Given the description of an element on the screen output the (x, y) to click on. 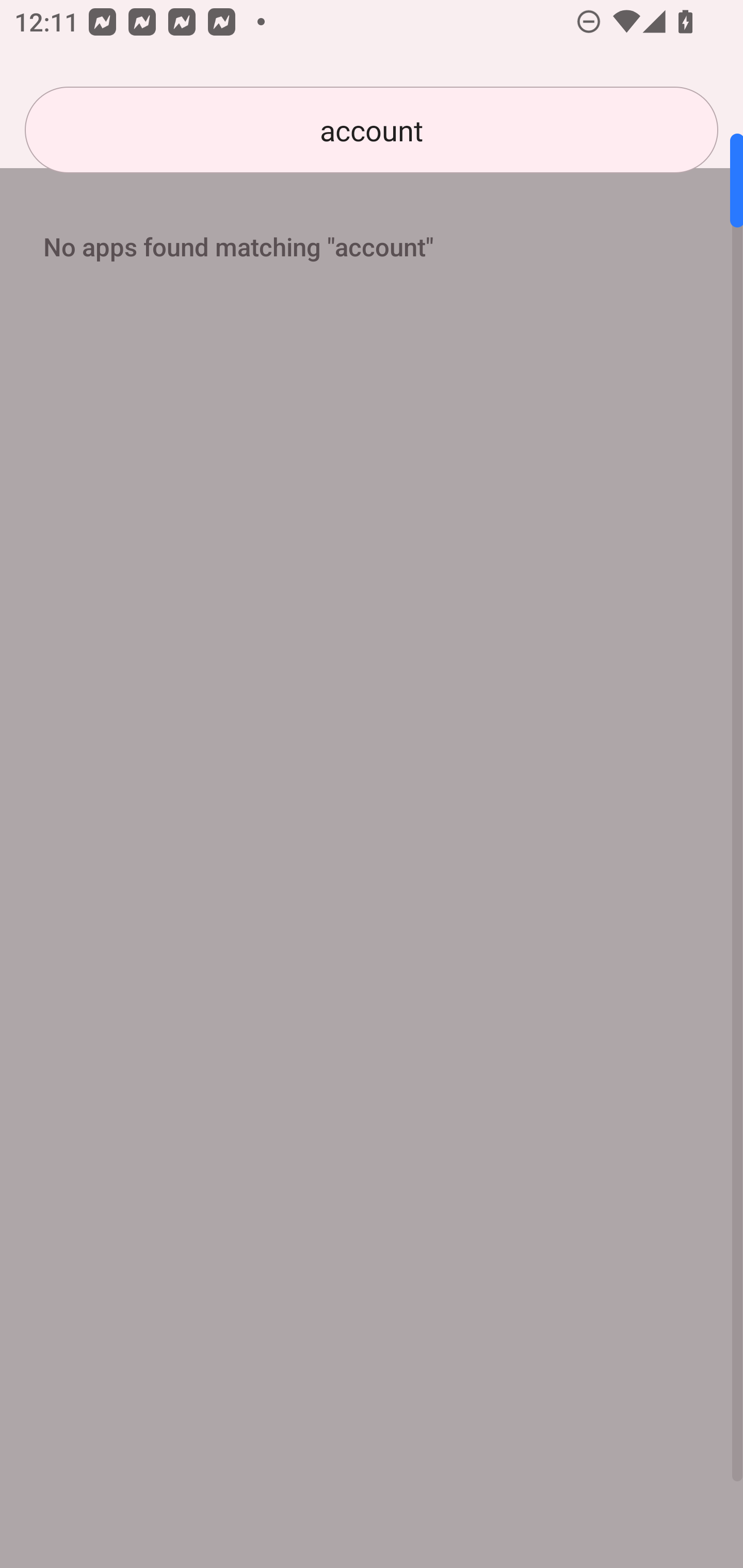
account (371, 130)
